Given the description of an element on the screen output the (x, y) to click on. 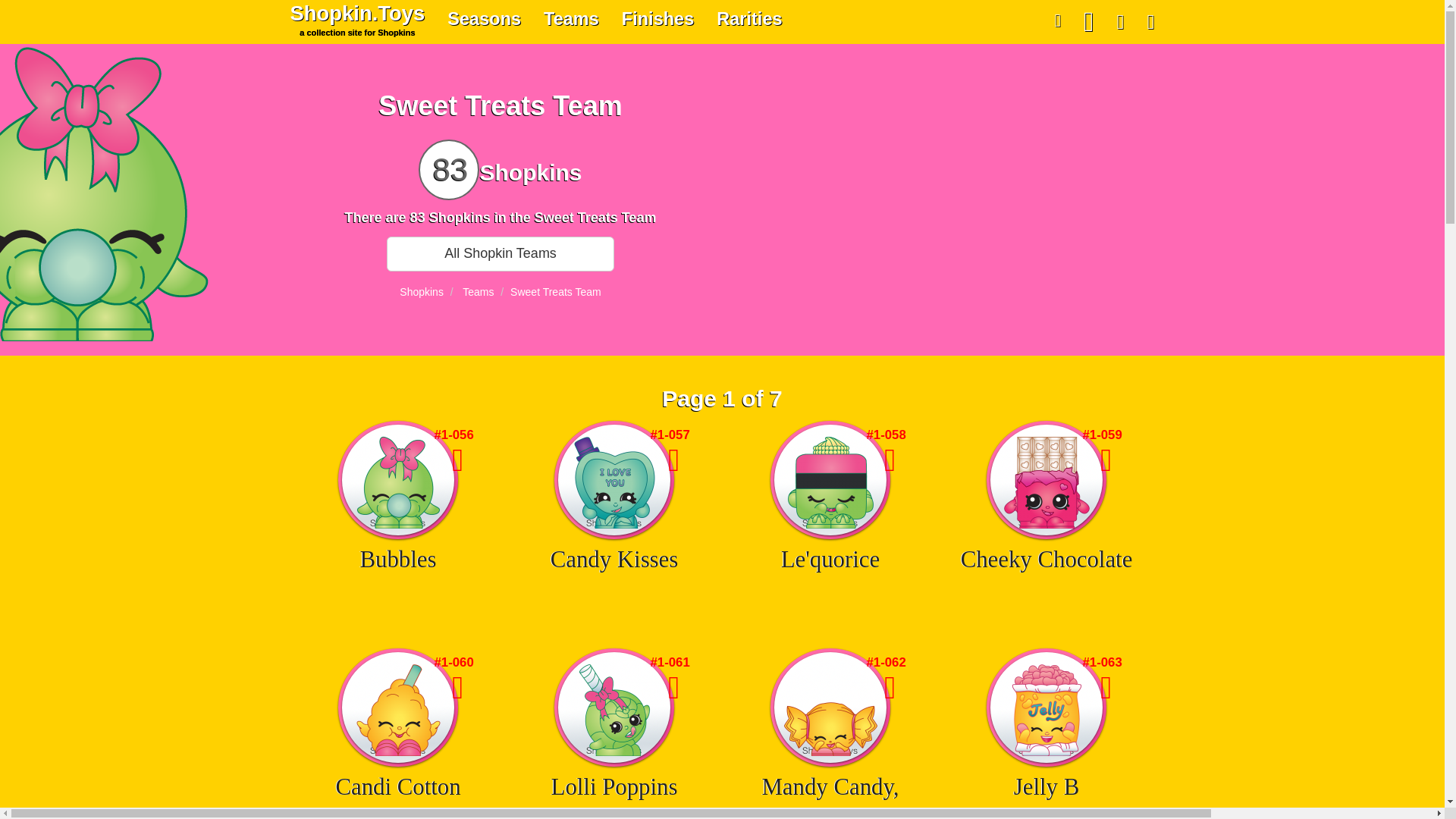
Seasons (483, 18)
Teams (478, 291)
All Shopkin Teams (500, 253)
Teams (571, 18)
Finishes (357, 18)
Shopkins (657, 18)
Rarities (421, 291)
